Given the description of an element on the screen output the (x, y) to click on. 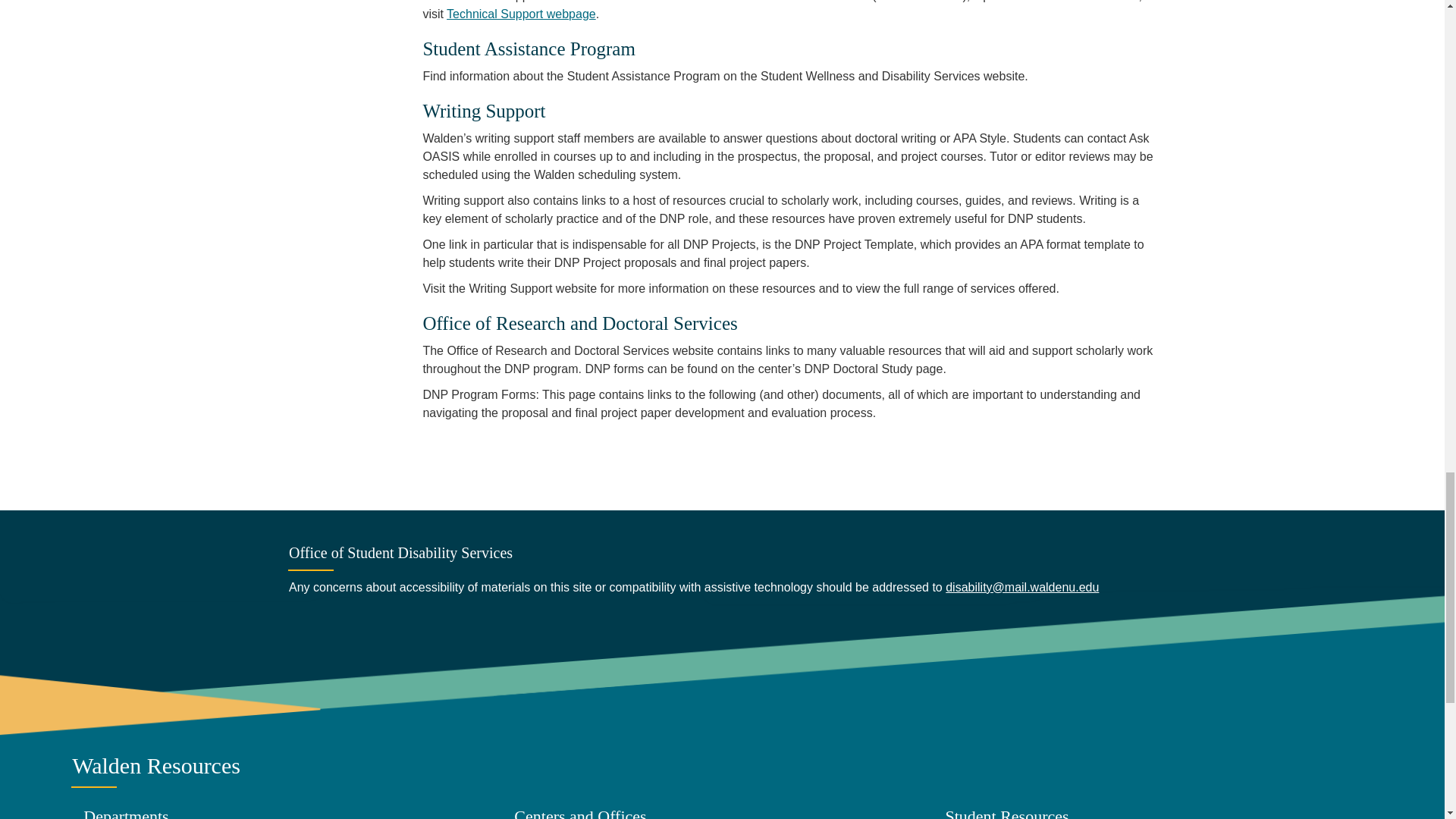
Technical Support webpage (520, 13)
